Given the description of an element on the screen output the (x, y) to click on. 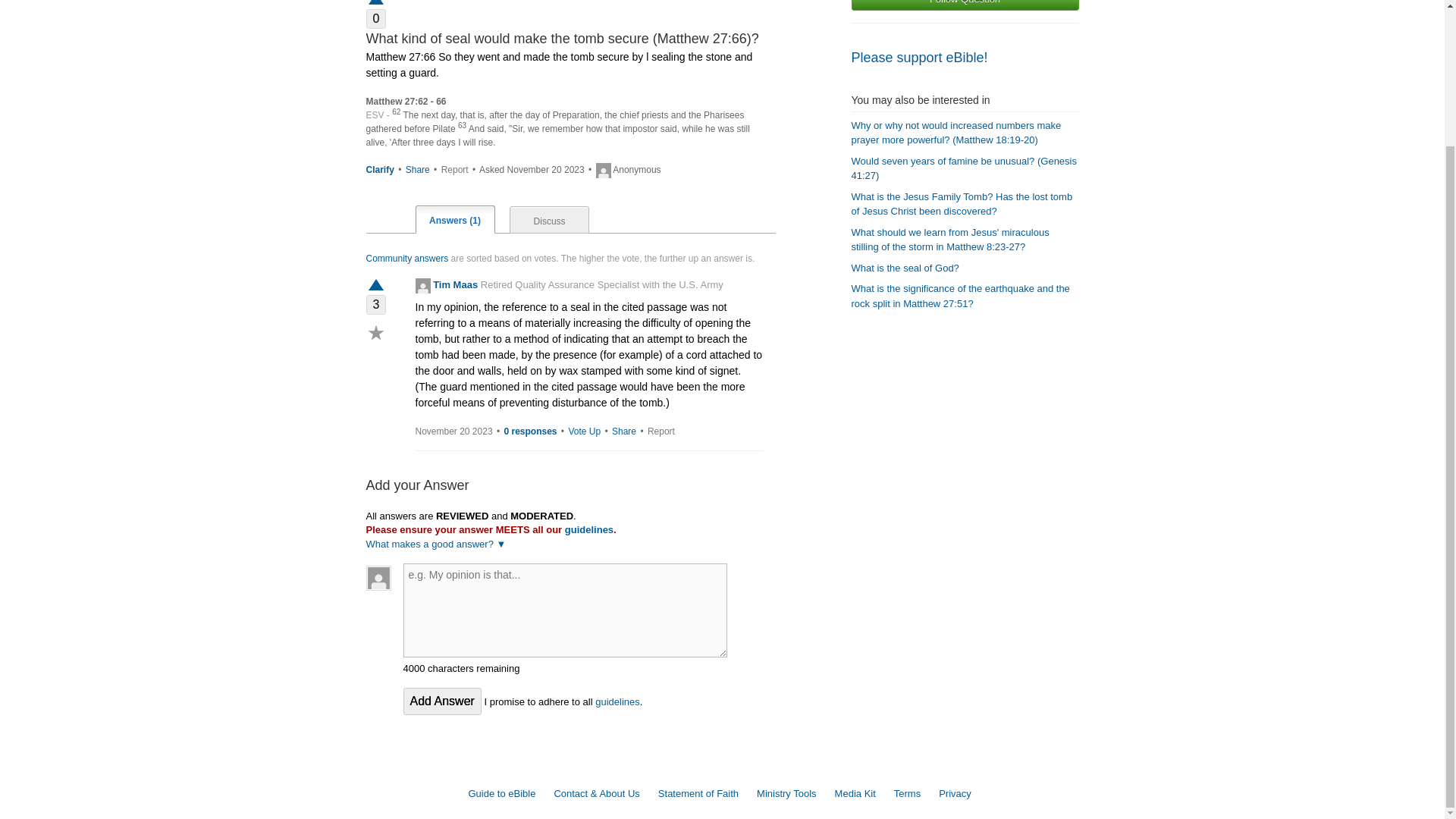
Vote Question Up (375, 7)
Add Answer (442, 700)
Vote Up (583, 430)
Vote Up (375, 286)
